Given the description of an element on the screen output the (x, y) to click on. 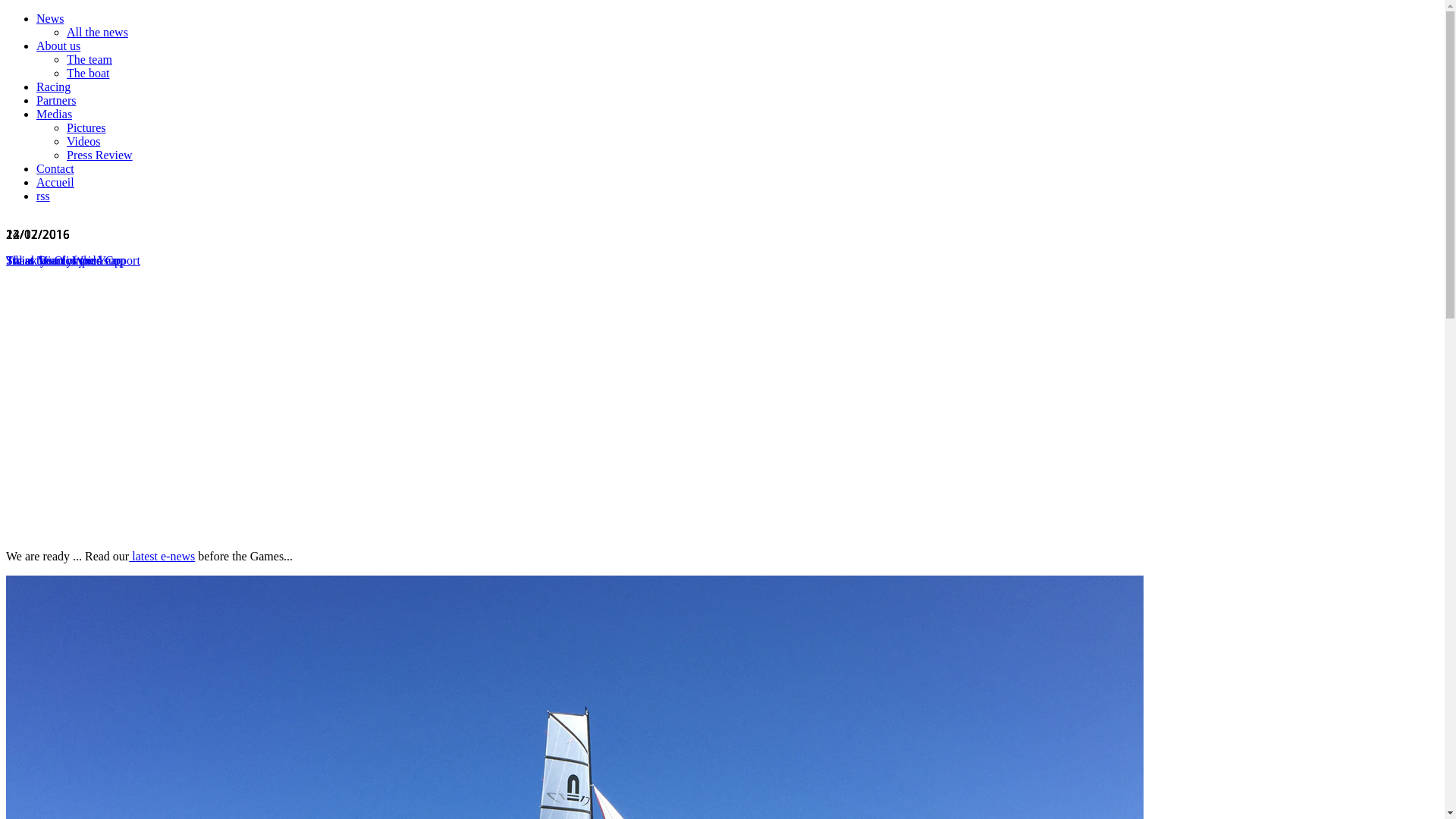
News Element type: text (49, 18)
latest e-news Element type: text (161, 555)
Thank you for your support Element type: text (73, 260)
About us Element type: text (58, 45)
Medias Element type: text (54, 113)
The team Element type: text (89, 59)
Accueil Element type: text (55, 181)
Swiss Team of the Year Element type: text (62, 260)
7th at the Olympics Element type: text (53, 260)
The boat Element type: text (87, 72)
Pictures Element type: text (86, 127)
rss Element type: text (43, 195)
Contact Element type: text (55, 168)
Videos Element type: text (83, 140)
Racing Element type: text (53, 86)
All the news Element type: text (97, 31)
Press Review Element type: text (99, 154)
Partners Element type: text (55, 100)
3rd at Miami World Cup Element type: text (65, 260)
